Given the description of an element on the screen output the (x, y) to click on. 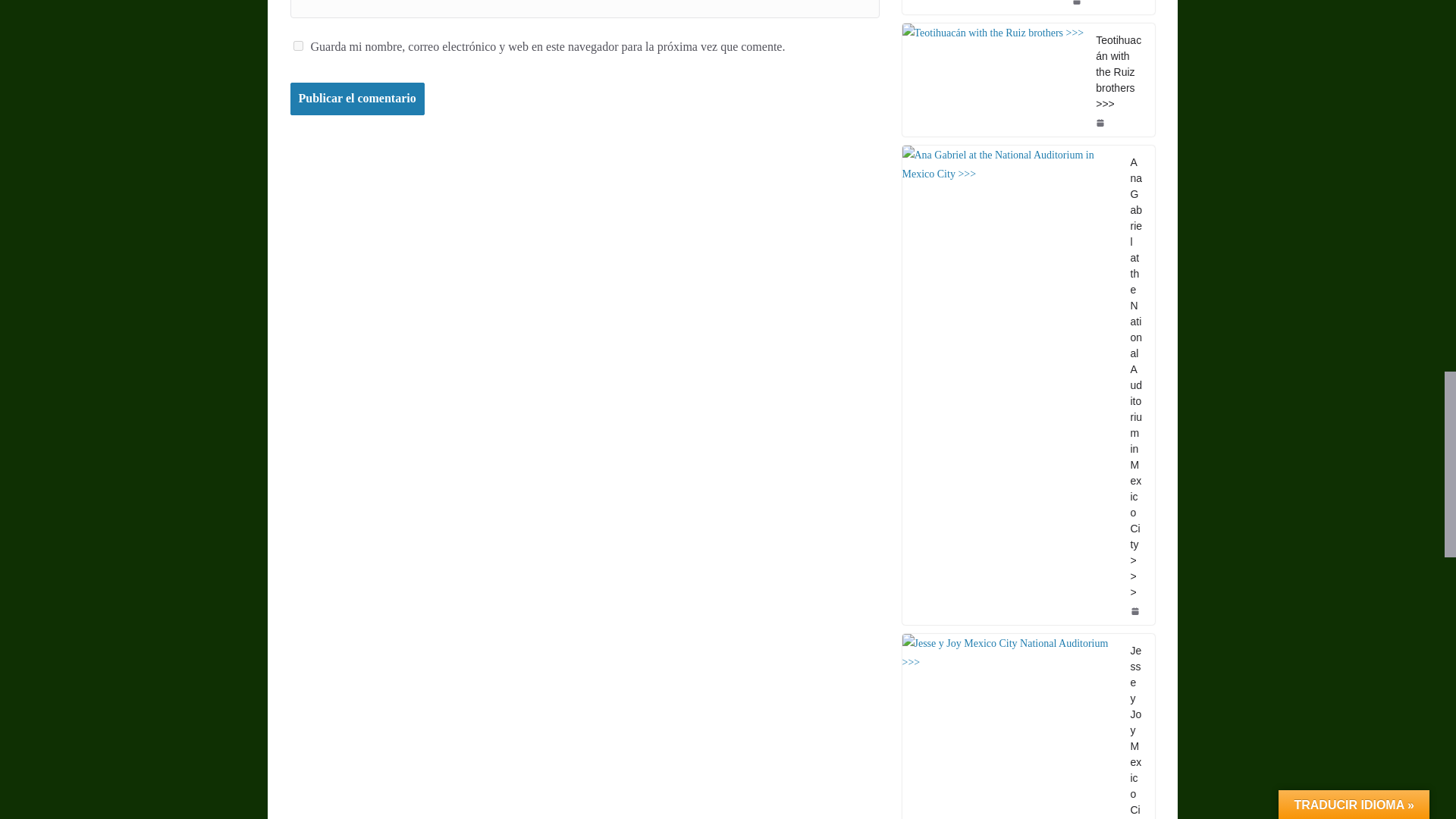
yes (297, 45)
Publicar el comentario (356, 98)
Publicar el comentario (356, 98)
